Given the description of an element on the screen output the (x, y) to click on. 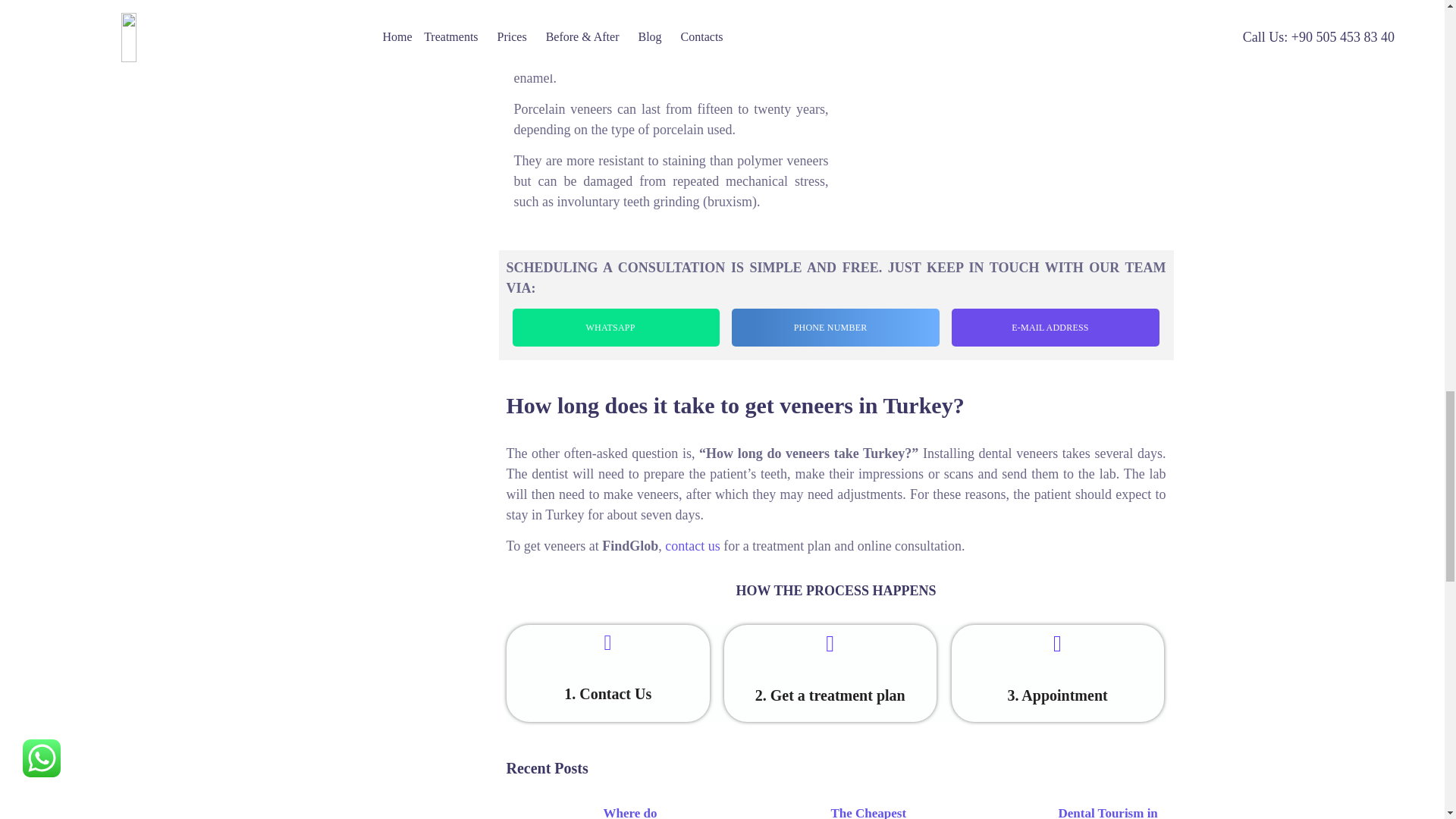
Where do celebrities get their teeth done in Turkey (547, 811)
The cheapest country for All on 4 dental implants (774, 811)
dental veneers in Turkey before and after (1000, 105)
Dental tourism in Turkey (1001, 811)
